Given the description of an element on the screen output the (x, y) to click on. 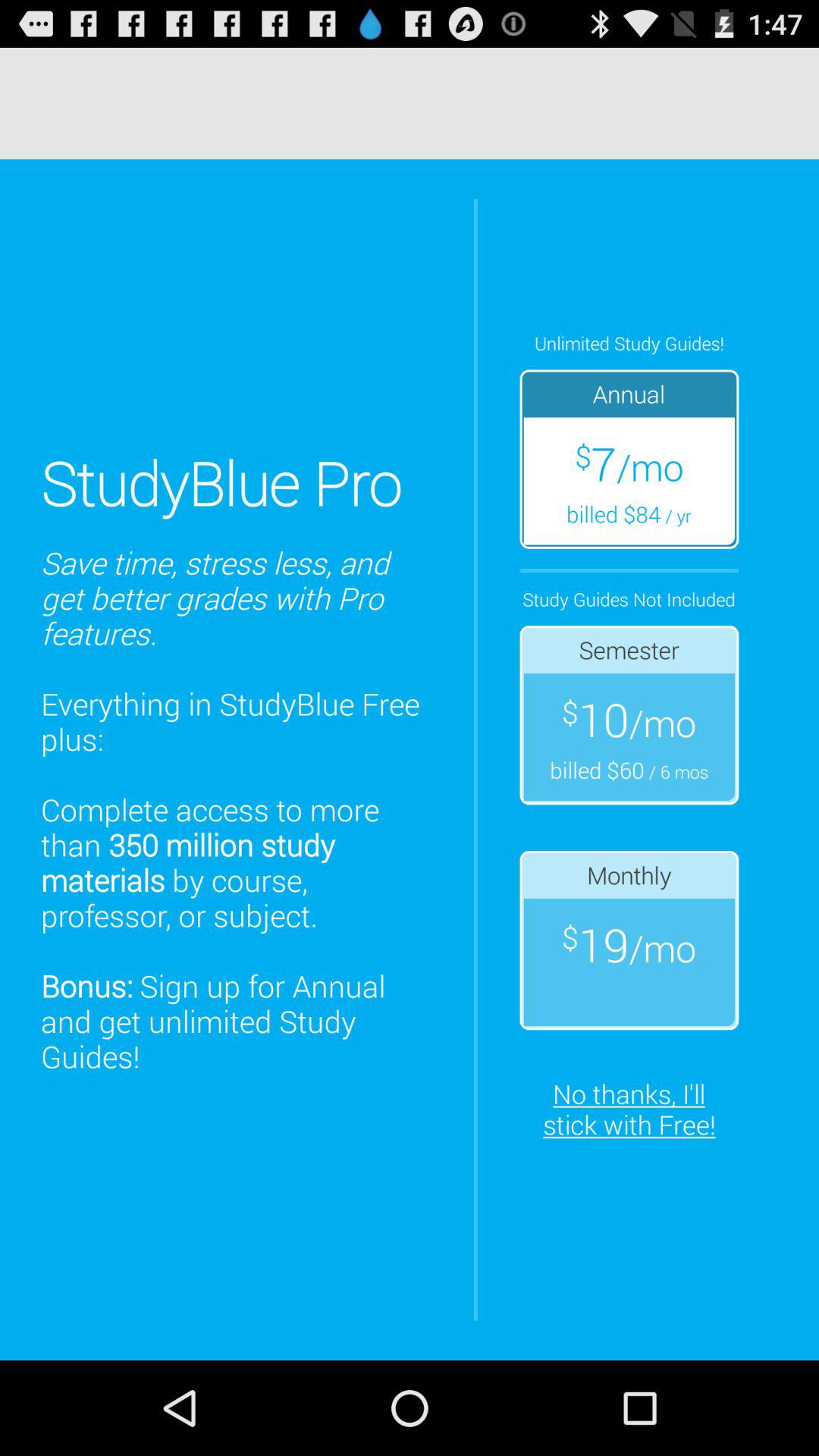
launch no thanks i at the bottom right corner (629, 1109)
